Given the description of an element on the screen output the (x, y) to click on. 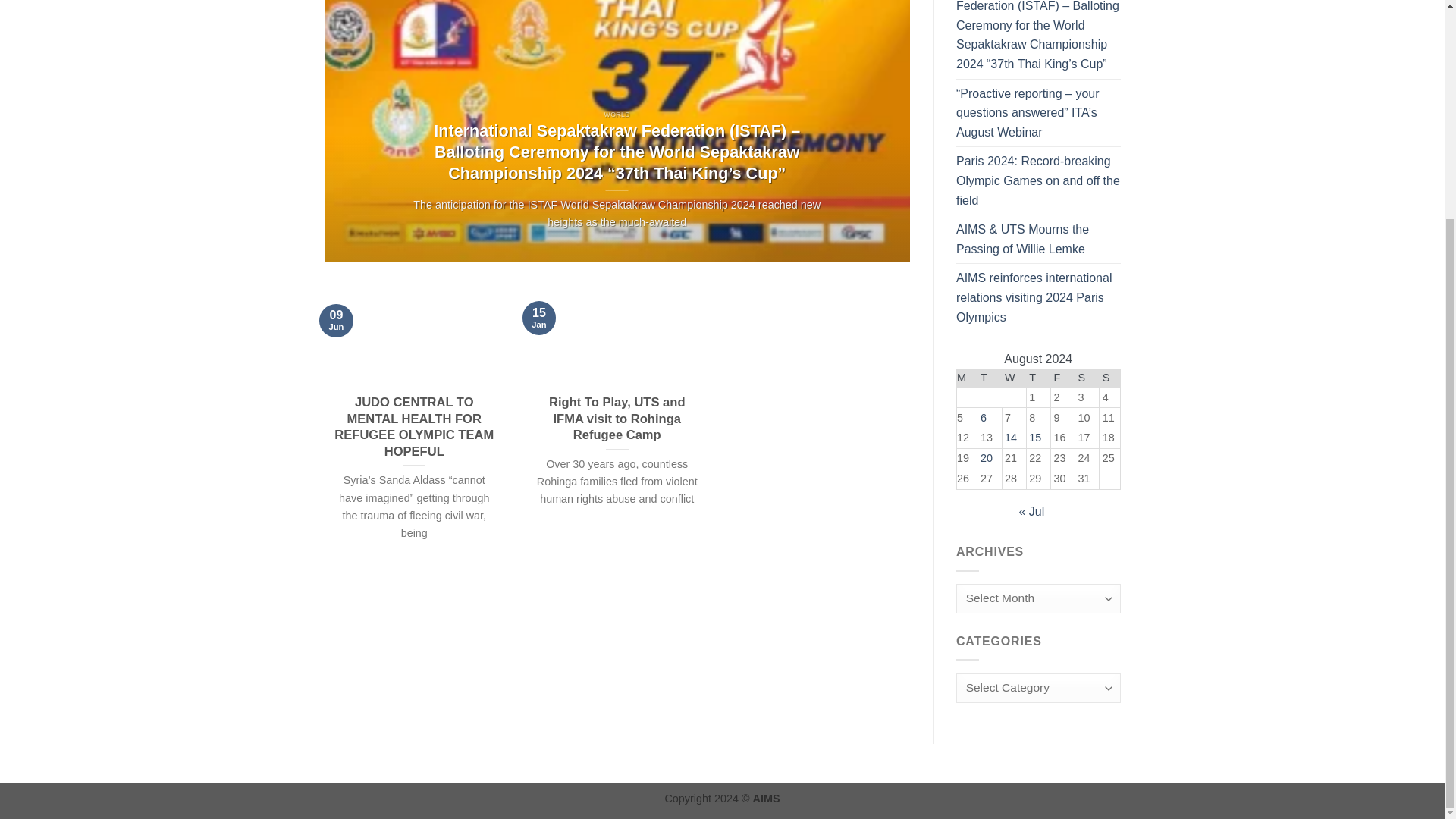
15 (1035, 437)
Thursday (1037, 377)
Monday (966, 377)
14 (1010, 437)
Saturday (1086, 377)
Tuesday (988, 377)
Wednesday (1013, 377)
Sunday (1109, 377)
